Given the description of an element on the screen output the (x, y) to click on. 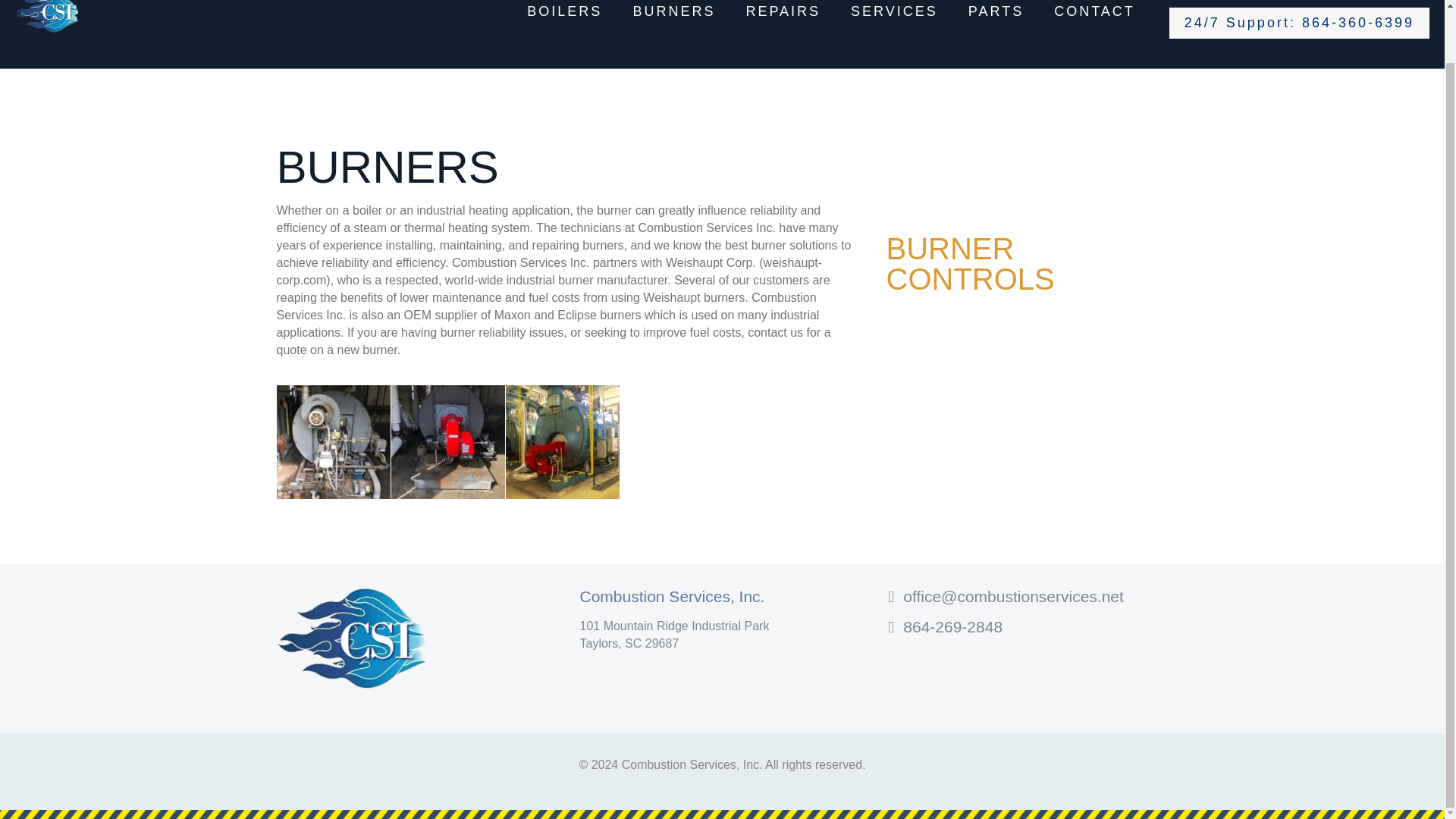
Combustion Services, Inc. (47, 22)
BURNER CONTROLS (969, 263)
BOILERS (564, 22)
burner-1 (333, 441)
SERVICES (894, 22)
PARTS (996, 22)
burner-2 (448, 441)
burner-3 (561, 441)
REPAIRS (782, 22)
CONTACT (1094, 22)
